Given the description of an element on the screen output the (x, y) to click on. 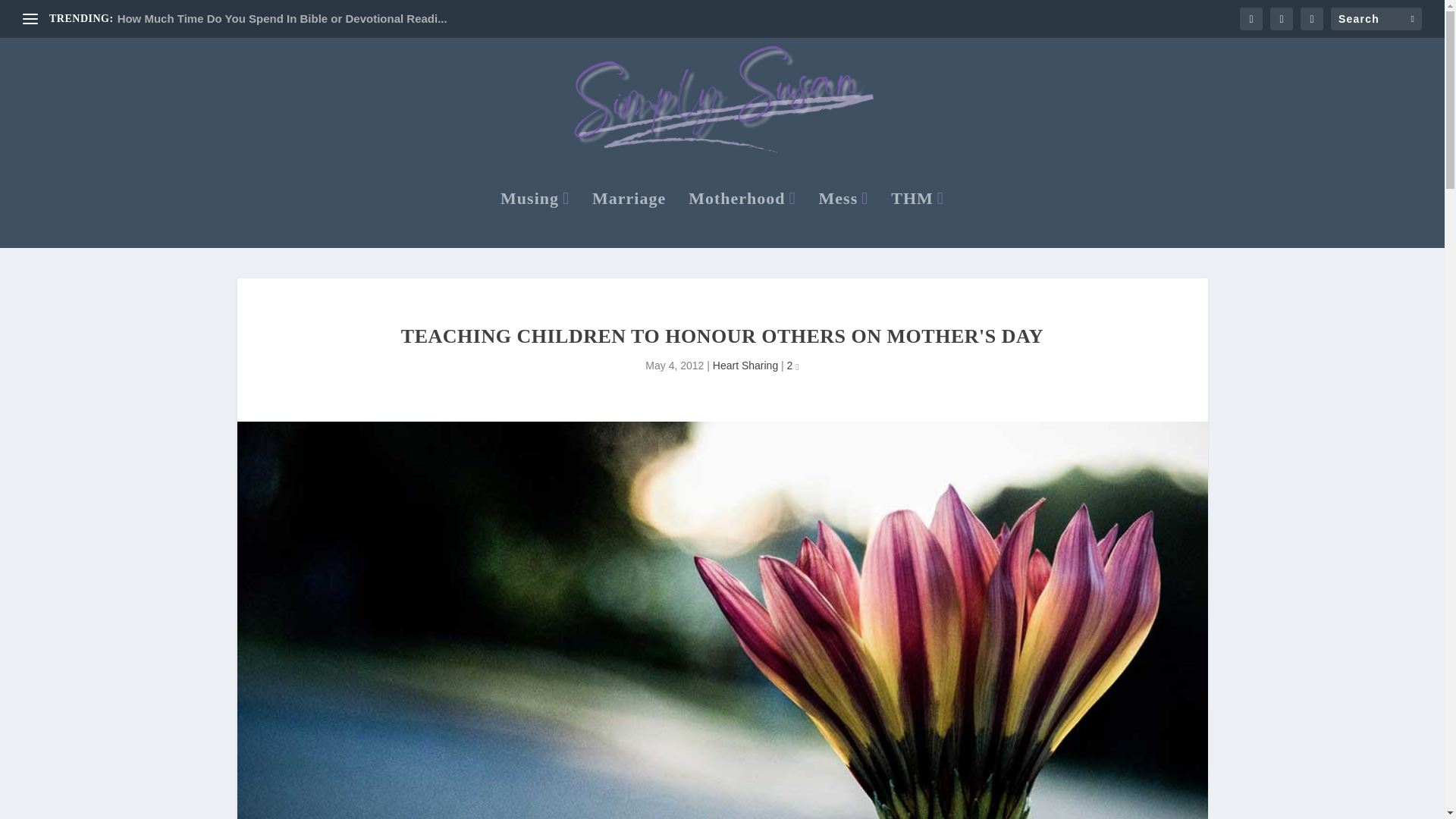
Musing (534, 219)
Motherhood (741, 219)
Search for: (1376, 18)
Marriage (628, 219)
THM (917, 219)
Trim Healthy Mama (917, 219)
How Much Time Do You Spend In Bible or Devotional Readi... (281, 18)
